Given the description of an element on the screen output the (x, y) to click on. 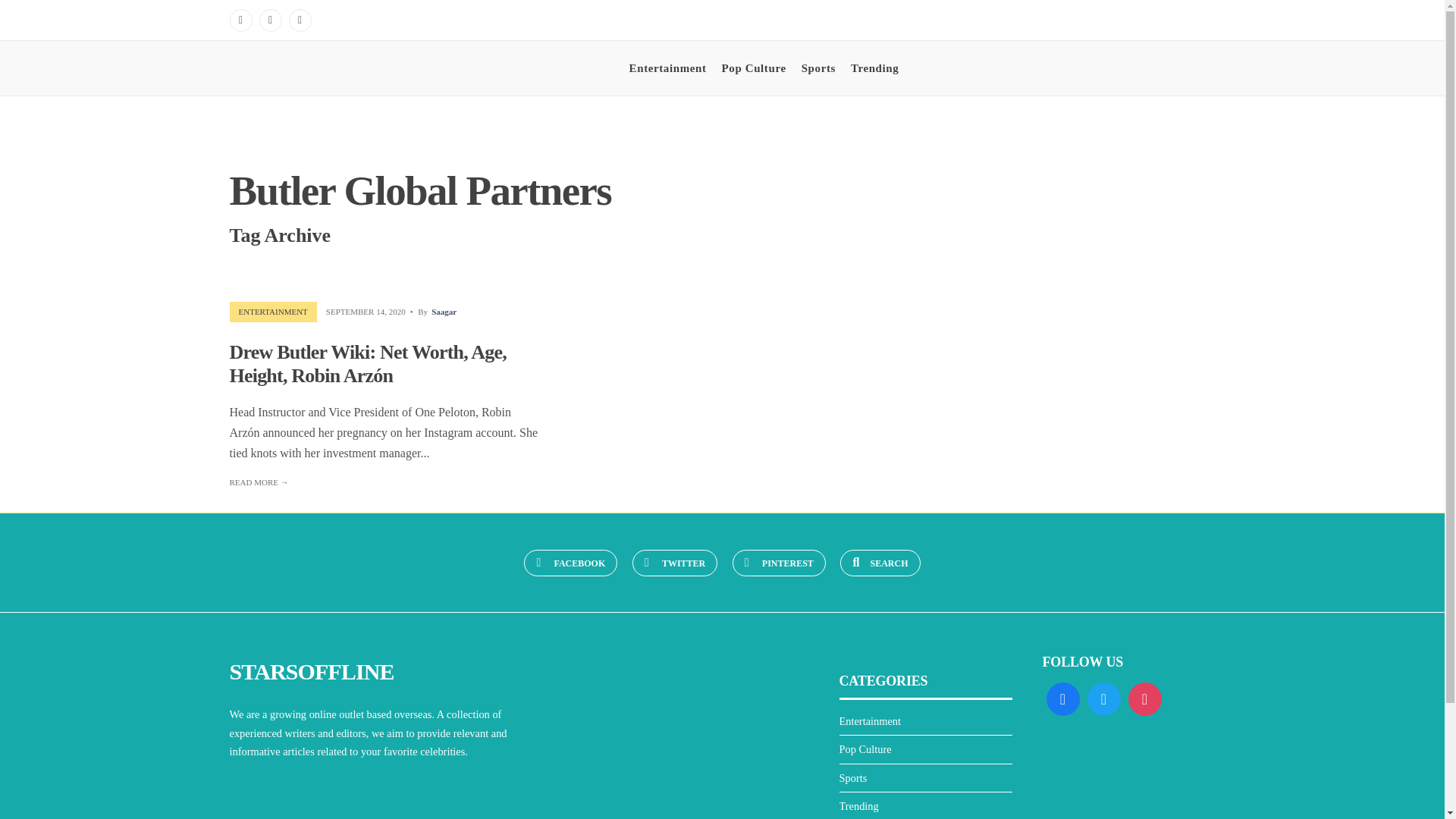
Trending (874, 67)
STARSOFFLINE (310, 671)
Sports (852, 777)
Sports (818, 67)
Entertainment (667, 67)
Trending (857, 806)
PINTEREST (778, 562)
Pop Culture (754, 67)
ENTERTAINMENT (272, 311)
SEARCH (880, 562)
